Given the description of an element on the screen output the (x, y) to click on. 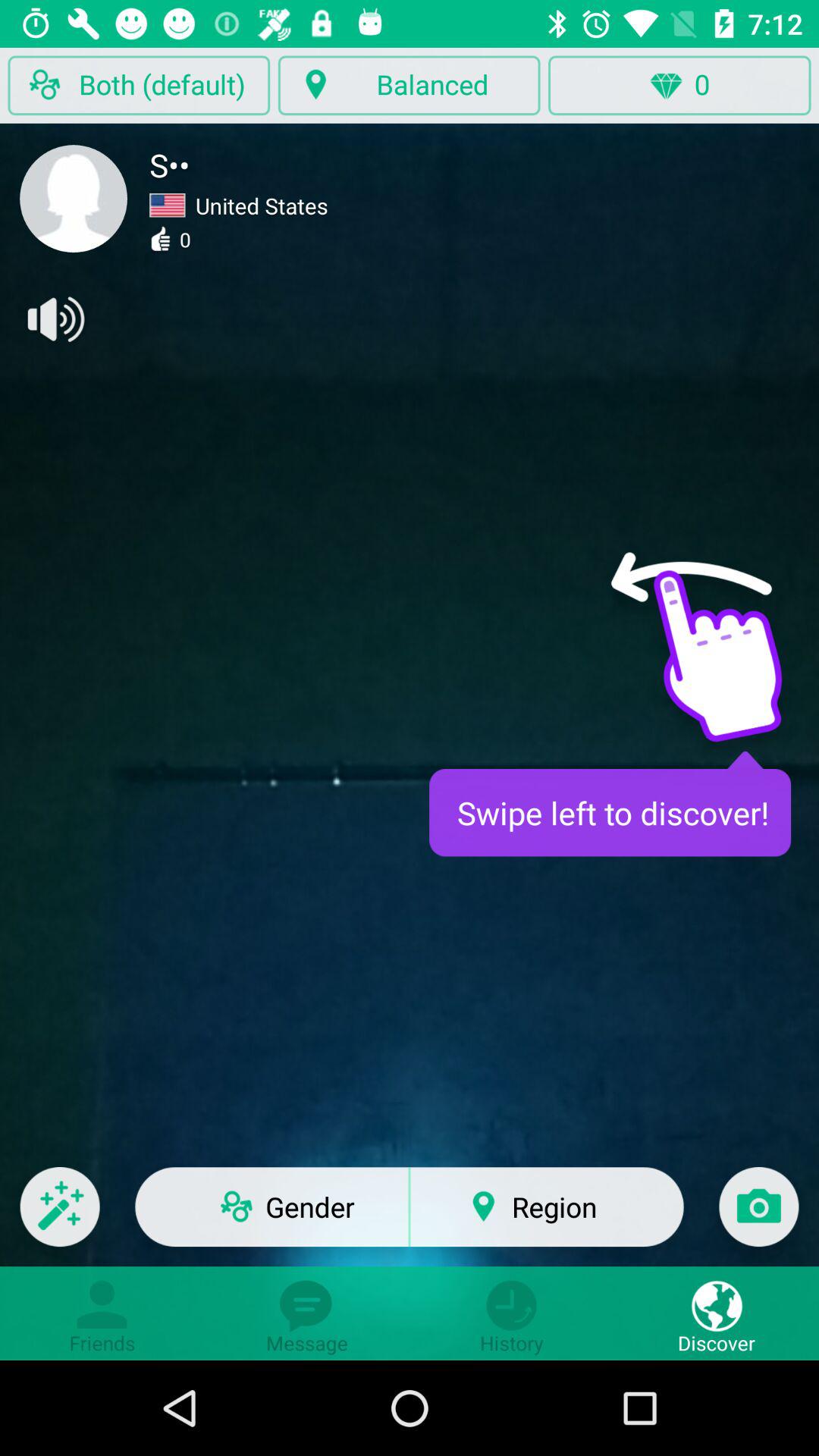
take picture (758, 1216)
